Given the description of an element on the screen output the (x, y) to click on. 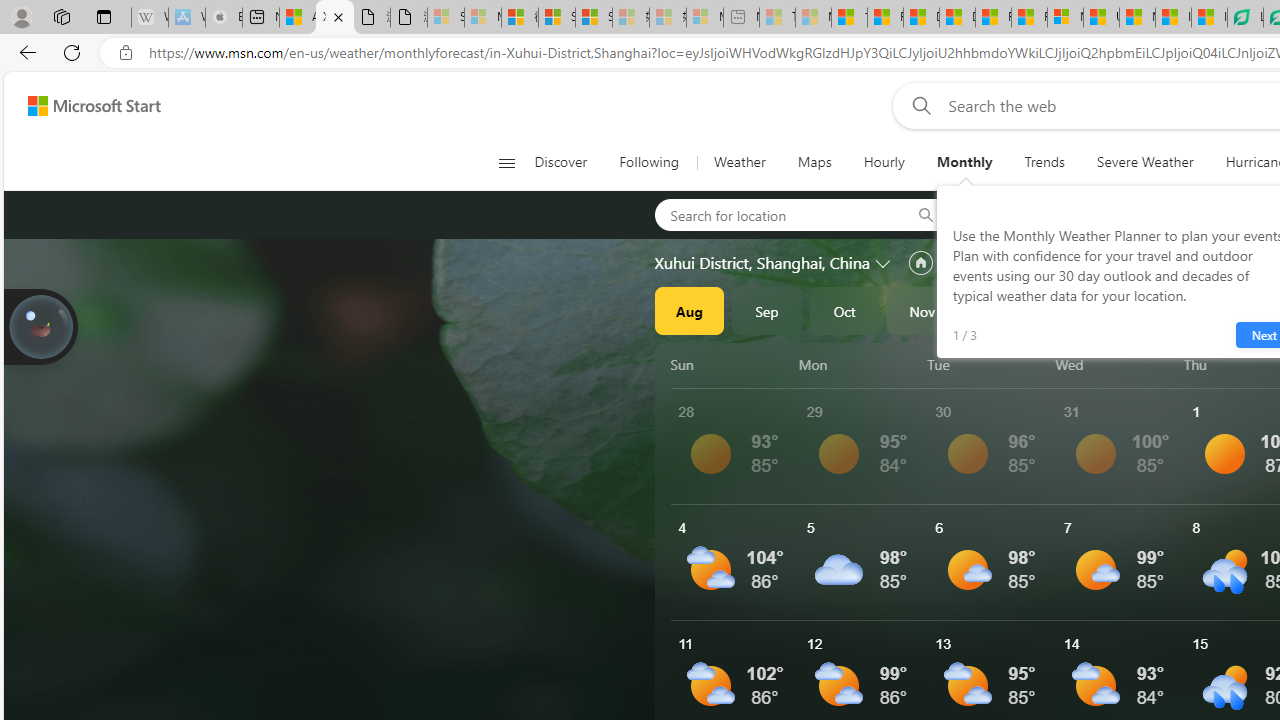
Aberdeen (1014, 214)
Buy iPad - Apple - Sleeping (223, 17)
US Heat Deaths Soared To Record High Last Year (1101, 17)
Oct (844, 310)
Dec (1000, 310)
Mon (859, 363)
Trends (1044, 162)
2025 Jan (1077, 310)
